Given the description of an element on the screen output the (x, y) to click on. 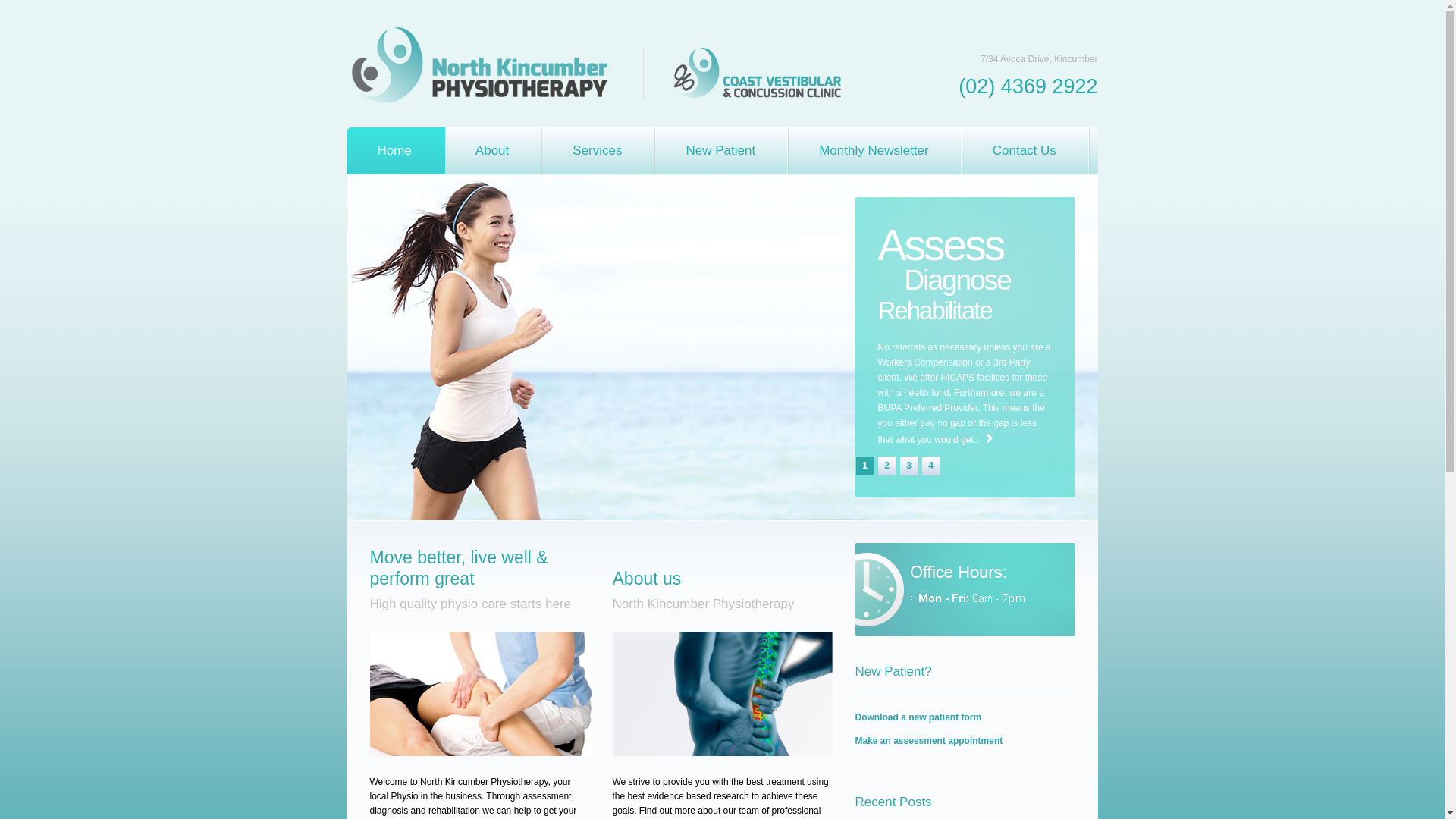
New Patient Element type: text (721, 150)
3 Element type: text (908, 465)
4 Element type: text (931, 465)
About Element type: text (493, 150)
Contact Us Element type: text (1025, 150)
2 Element type: text (887, 465)
Make an assessment appointment Element type: text (929, 740)
Monthly Newsletter Element type: text (875, 150)
1 Element type: text (864, 465)
Home Element type: text (396, 150)
Download a new patient form Element type: text (918, 717)
Services Element type: text (598, 150)
